Given the description of an element on the screen output the (x, y) to click on. 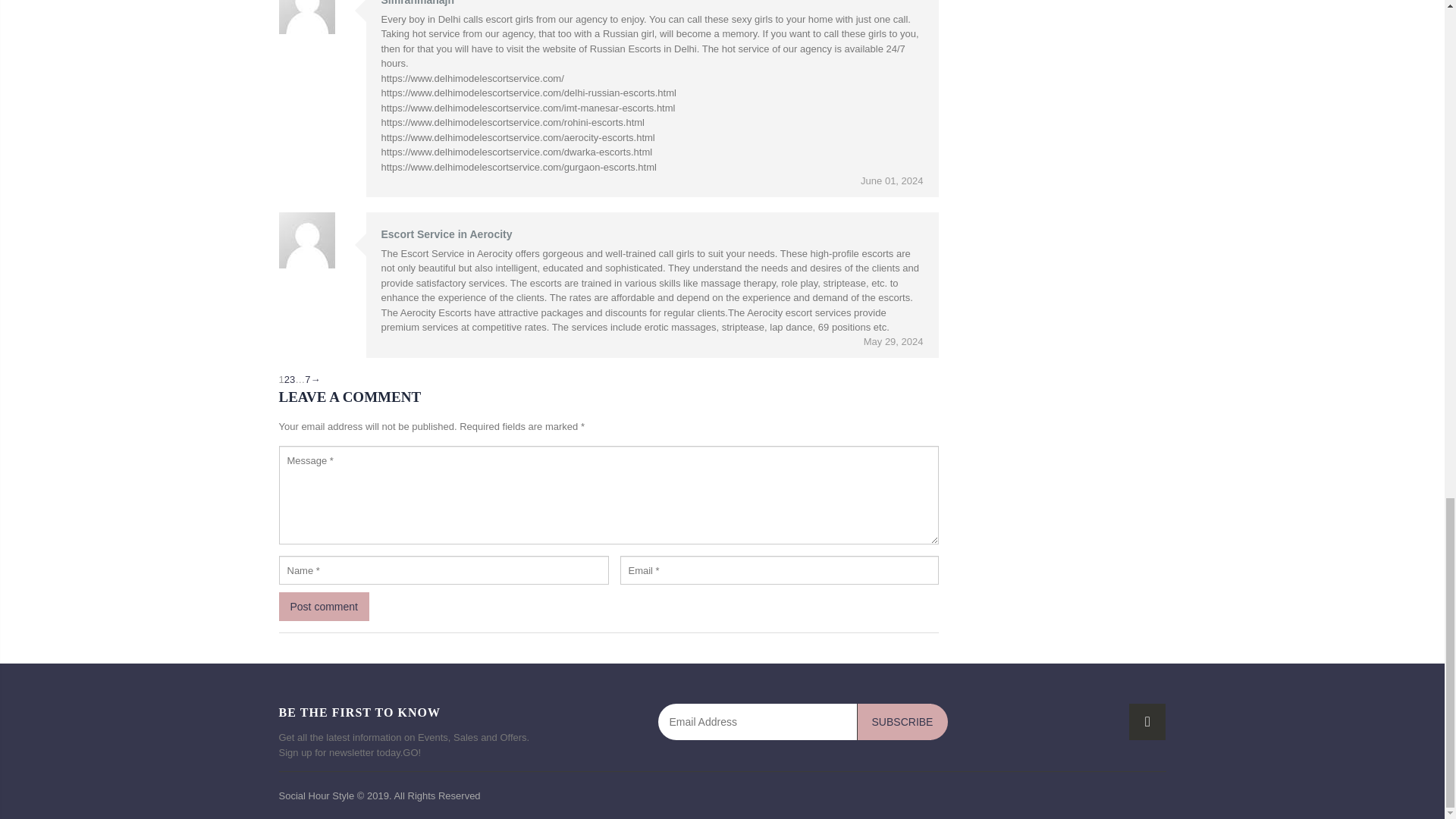
Post comment (324, 606)
